Given the description of an element on the screen output the (x, y) to click on. 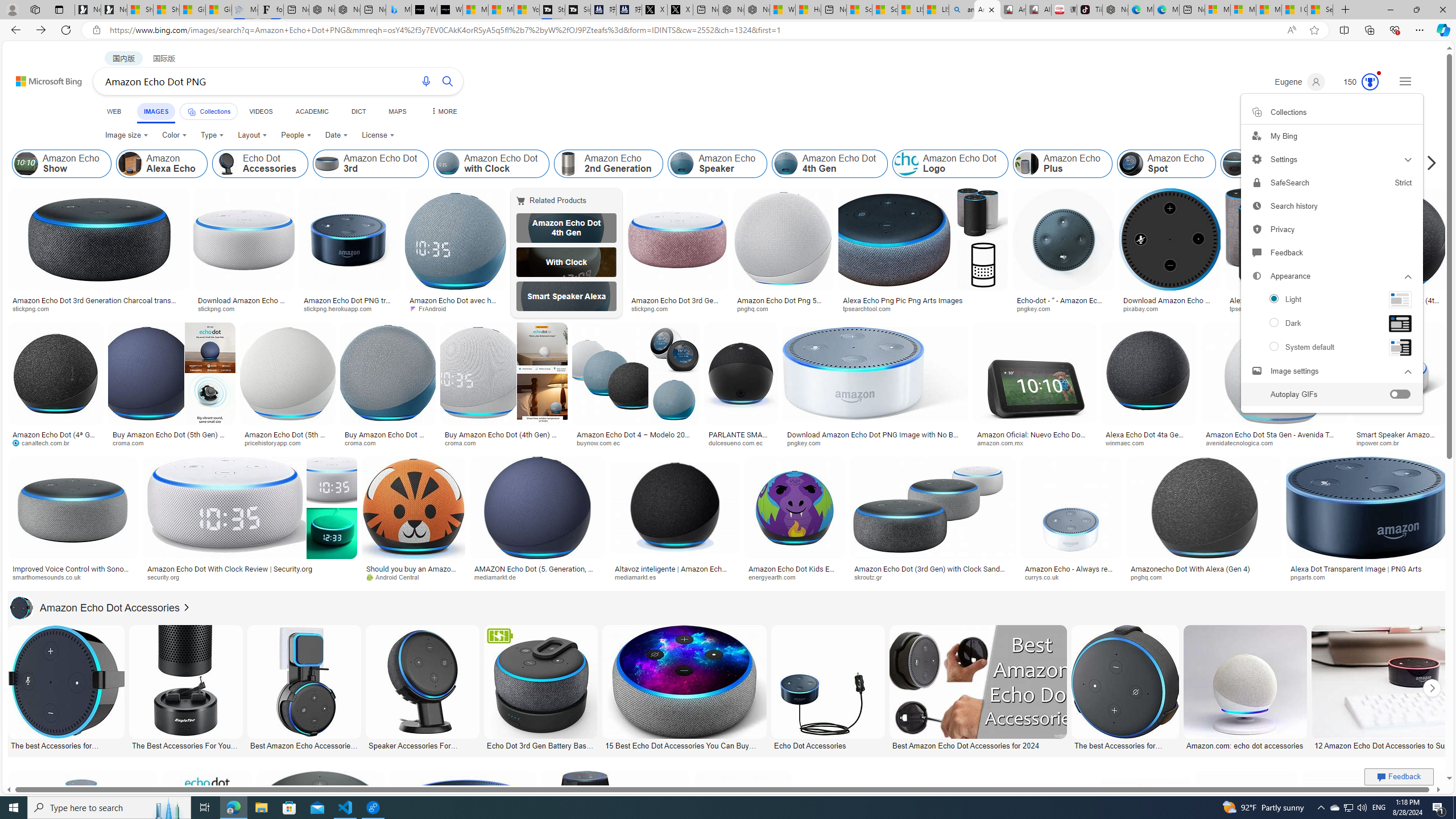
pricehistoryapp.com (276, 442)
Settings and quick links (1331, 253)
Huge shark washes ashore at New York City beach | Watch (807, 9)
Color (173, 135)
My Bing (1331, 136)
Improved Voice Control with Sonos & Alexa Echo devices (72, 572)
FrAndroid (431, 308)
Amazon Echo Dot Accessories (95, 607)
Feedback (1331, 252)
